Given the description of an element on the screen output the (x, y) to click on. 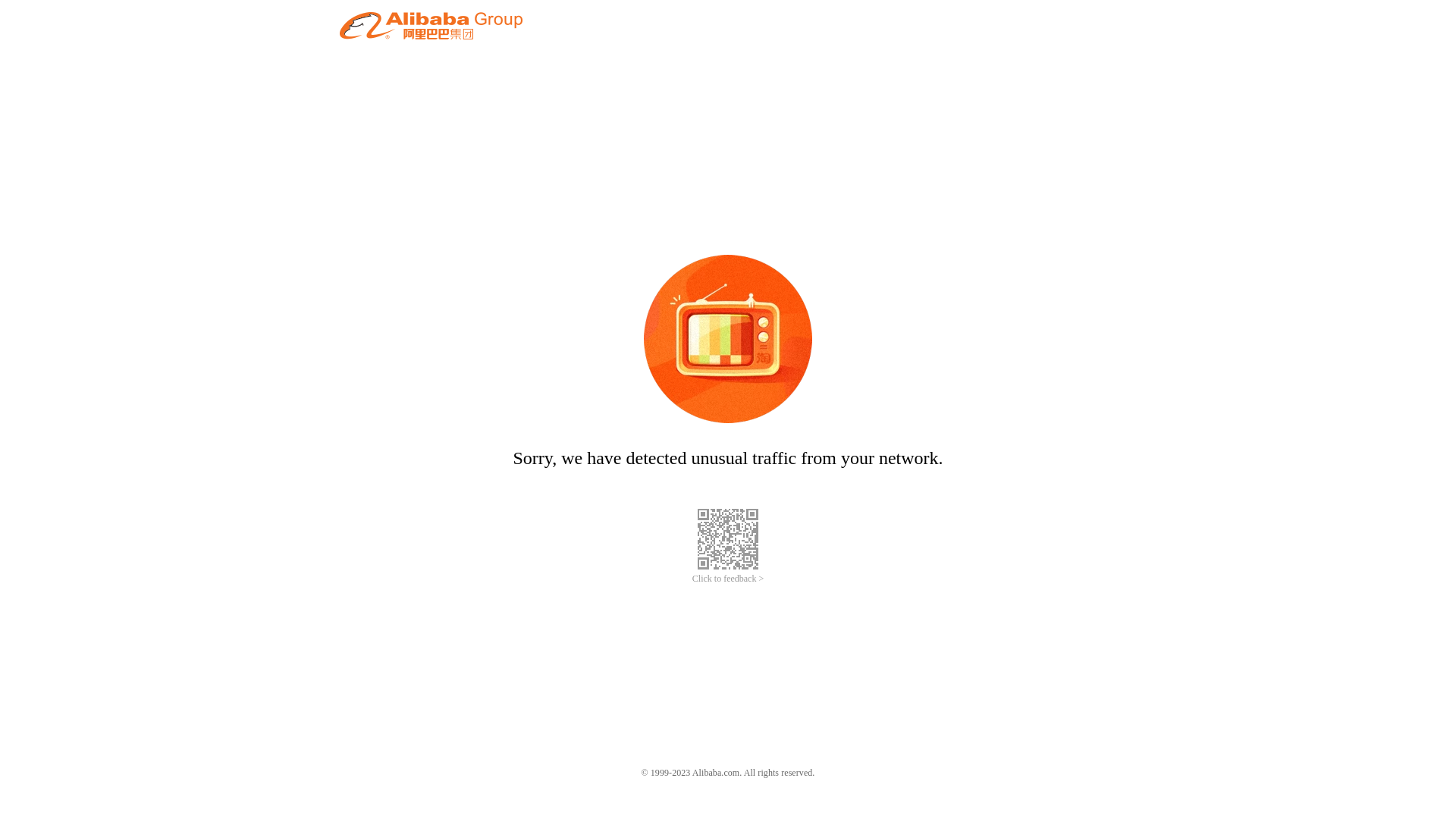
Click to feedback > Element type: text (727, 578)
